Given the description of an element on the screen output the (x, y) to click on. 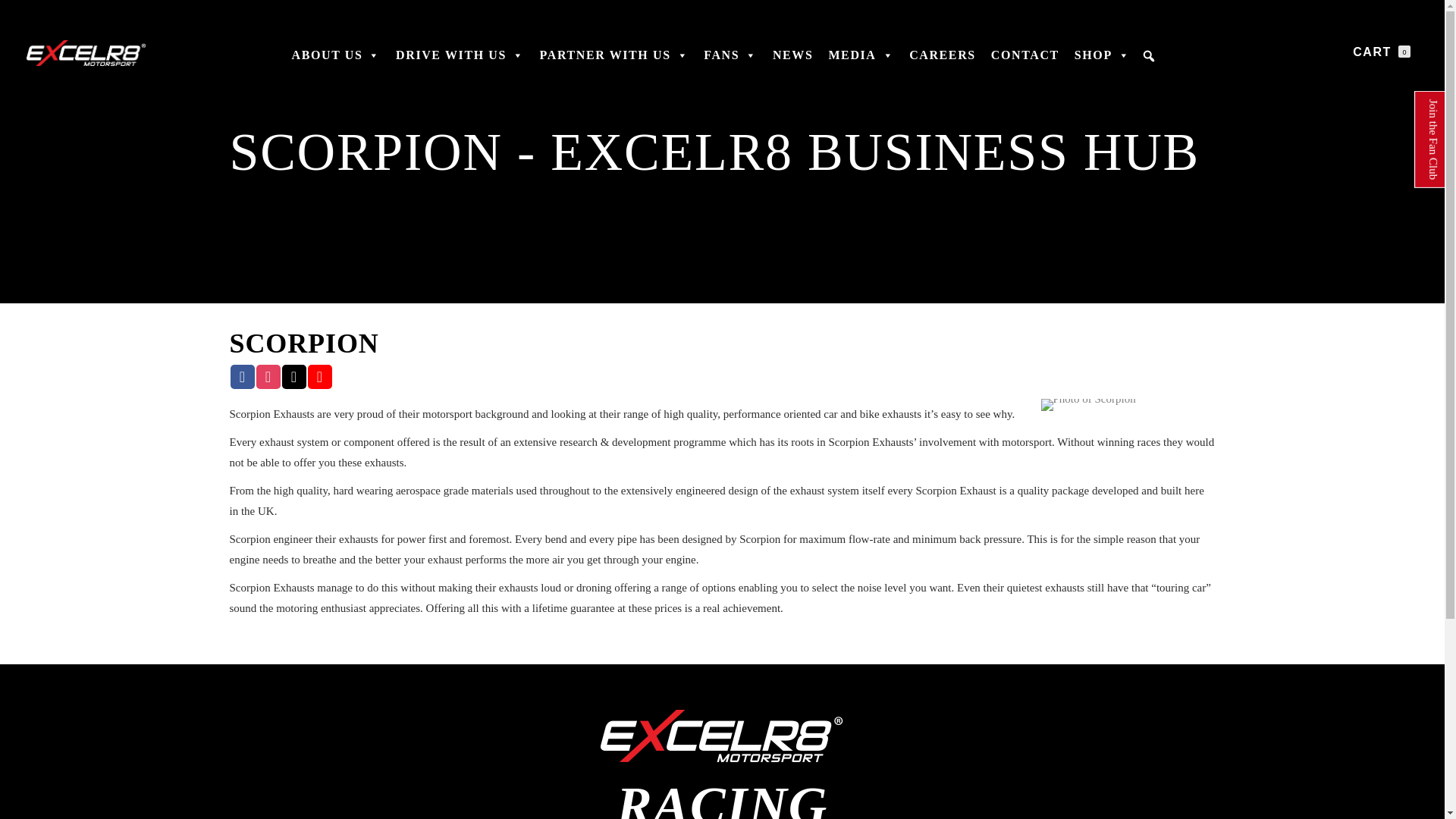
DRIVE WITH US (459, 62)
NEWS (793, 62)
CAREERS (942, 62)
CONTACT (1025, 62)
FANS (730, 62)
Photo of Scorpion (1088, 404)
ABOUT US (335, 62)
MEDIA (861, 62)
SHOP (1102, 62)
PARTNER WITH US (614, 62)
